Given the description of an element on the screen output the (x, y) to click on. 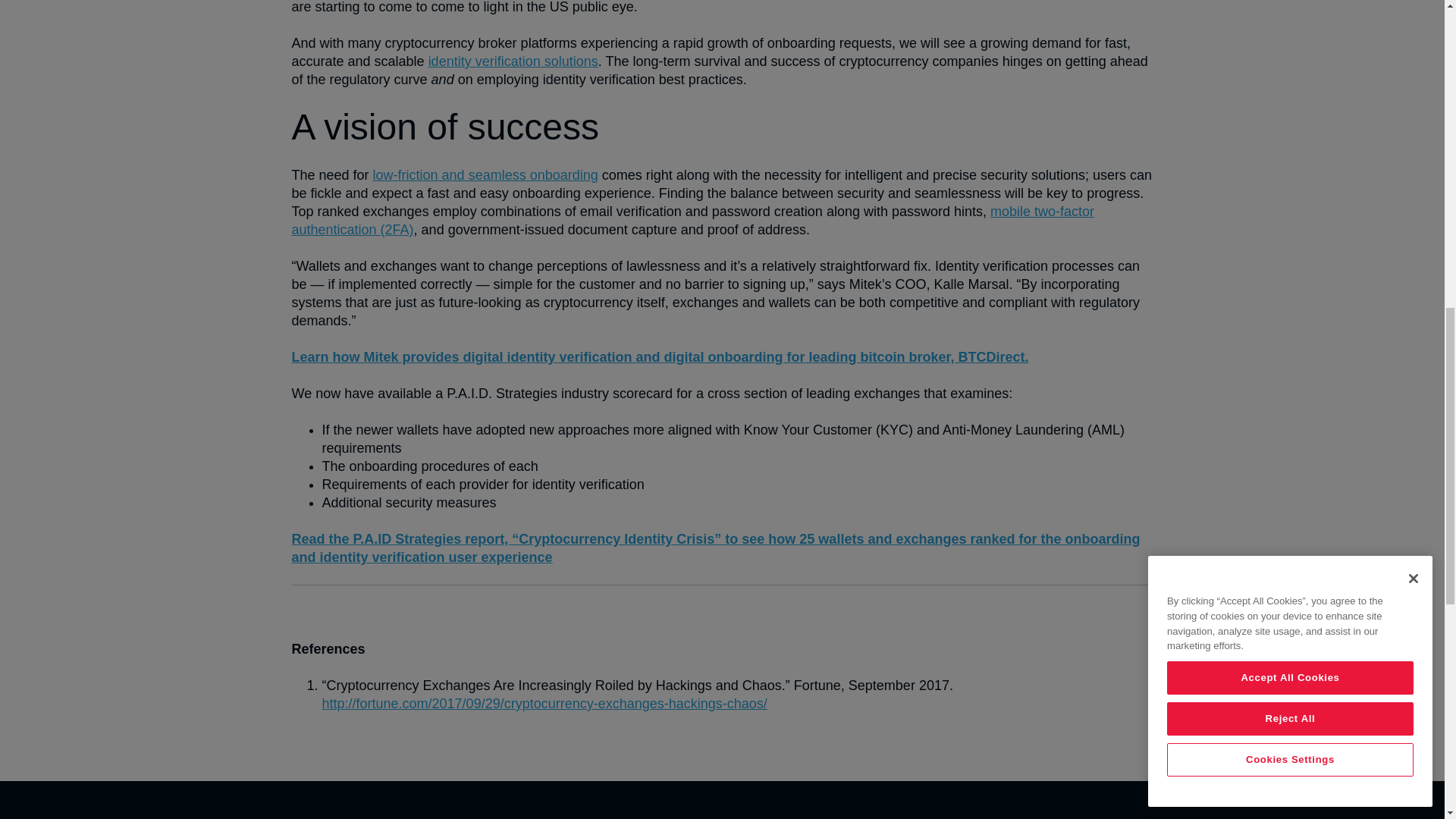
BTCDirect Bitcoin Broker Digital Onboarding (659, 356)
Cryptocurrency comparison (715, 548)
Seamless onboarding (485, 174)
